Given the description of an element on the screen output the (x, y) to click on. 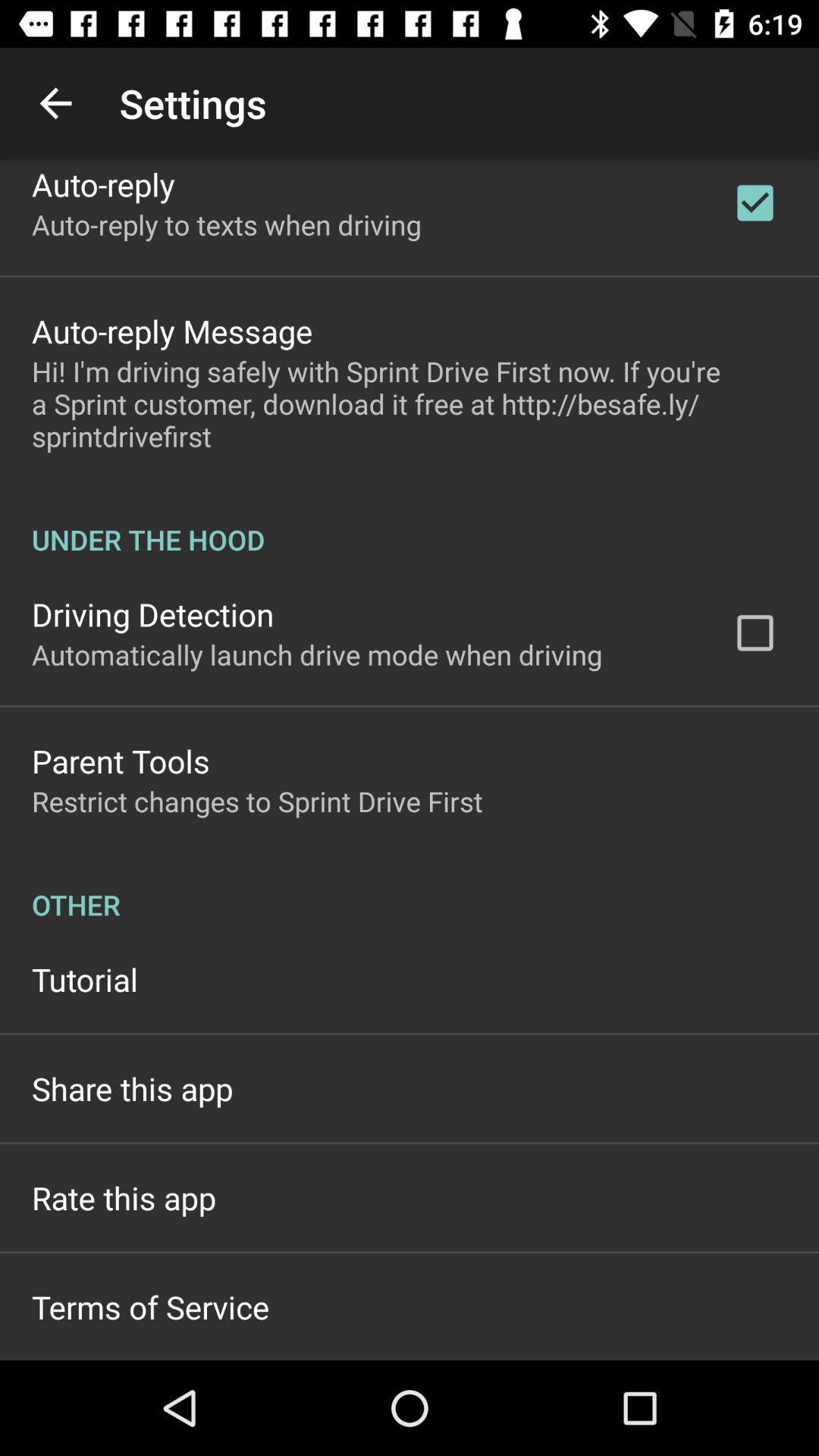
choose the item below other icon (84, 979)
